Given the description of an element on the screen output the (x, y) to click on. 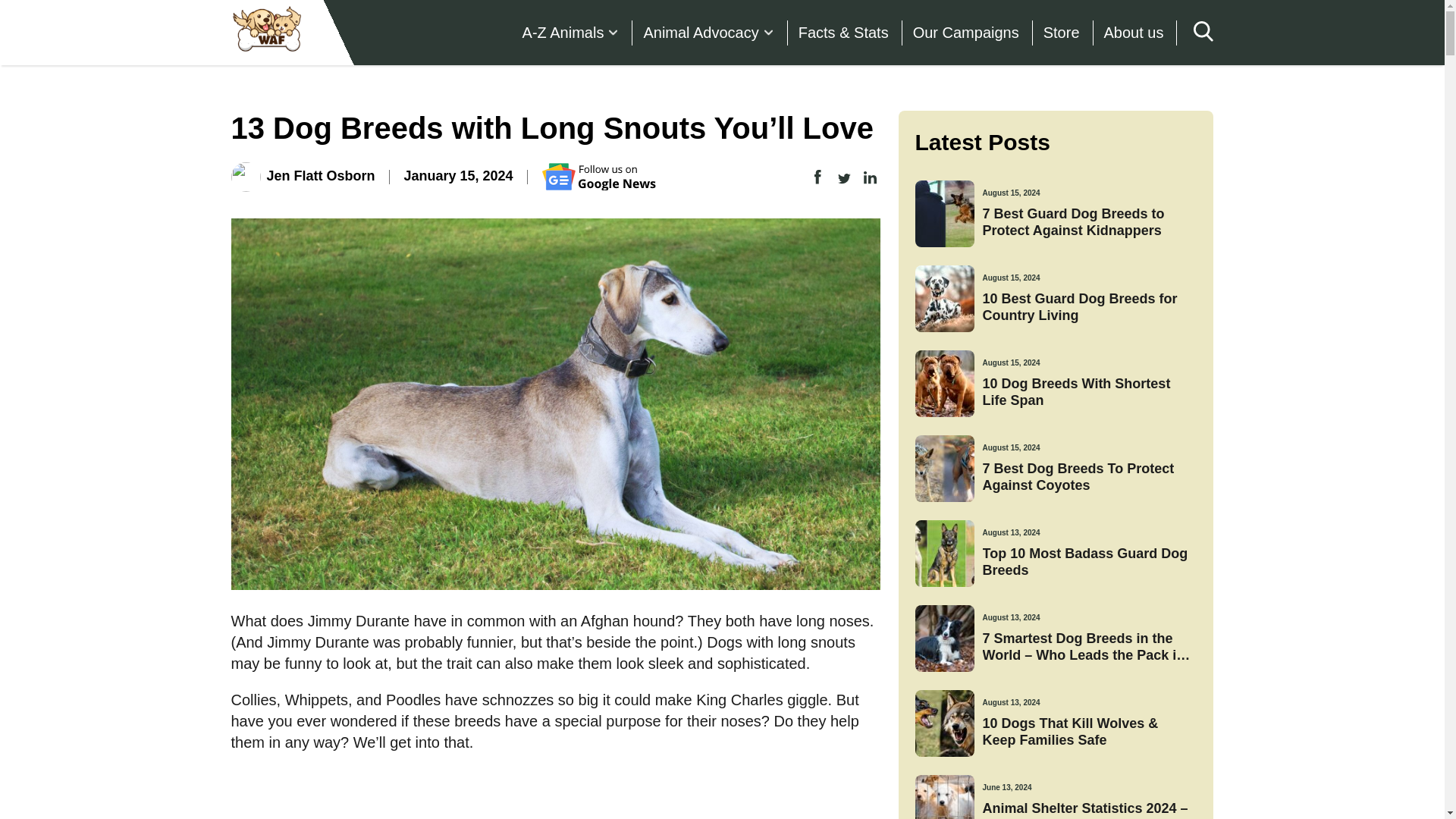
A-Z Animals (571, 32)
Top 10 Most Badass Guard Dog Breeds (1088, 562)
7 Best Guard Dog Breeds to Protect Against Kidnappers (1088, 222)
10 Best Guard Dog Breeds for Country Living (1088, 307)
7 Best Dog Breeds To Protect Against Coyotes (1088, 477)
10 Dog Breeds With Shortest Life Span (1088, 391)
